Given the description of an element on the screen output the (x, y) to click on. 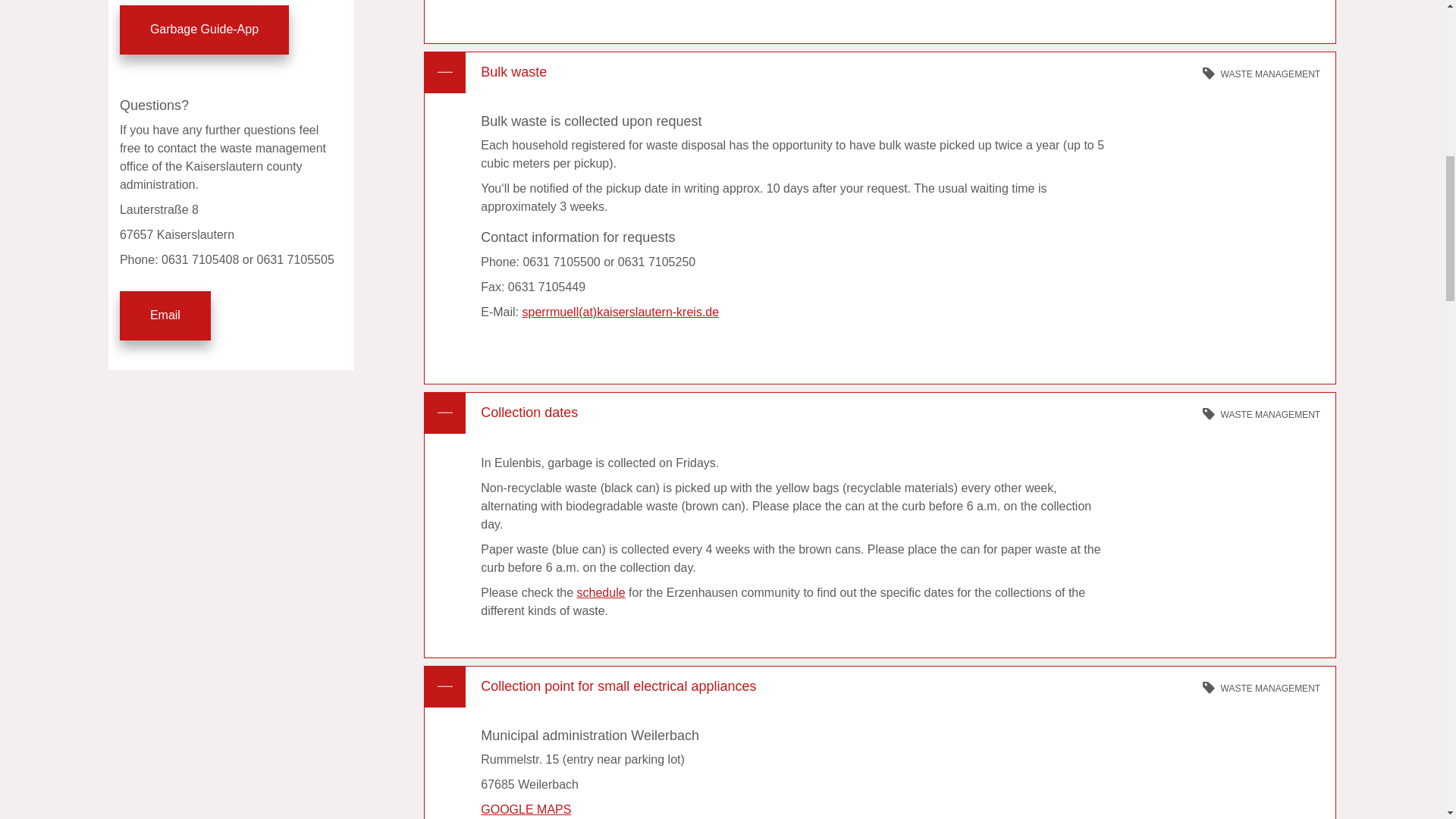
Email (165, 315)
GOOGLE MAPS (525, 809)
Opens external link in new window (203, 29)
Opens window for sending email (165, 315)
Opens external link in new window (525, 809)
Garbage Guide-App (203, 29)
schedule (601, 592)
Opens external link in new window (601, 592)
